Given the description of an element on the screen output the (x, y) to click on. 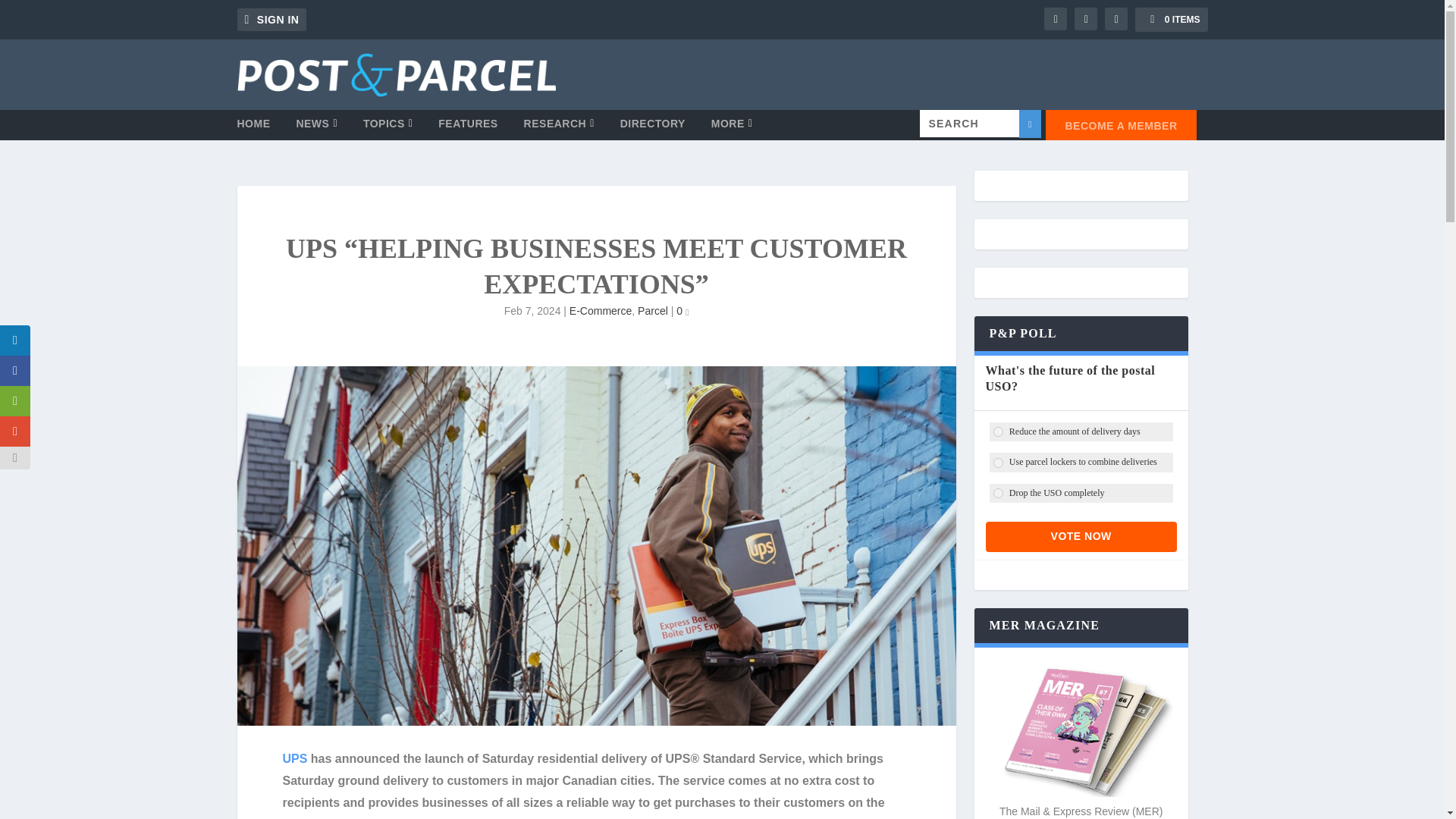
282 (997, 492)
SIGN IN (270, 19)
HOME (252, 128)
0 Items in Cart (1171, 19)
280 (997, 431)
0 ITEMS (1171, 19)
FEATURES (467, 128)
TOPICS (387, 128)
NEWS (316, 128)
281 (997, 462)
